Given the description of an element on the screen output the (x, y) to click on. 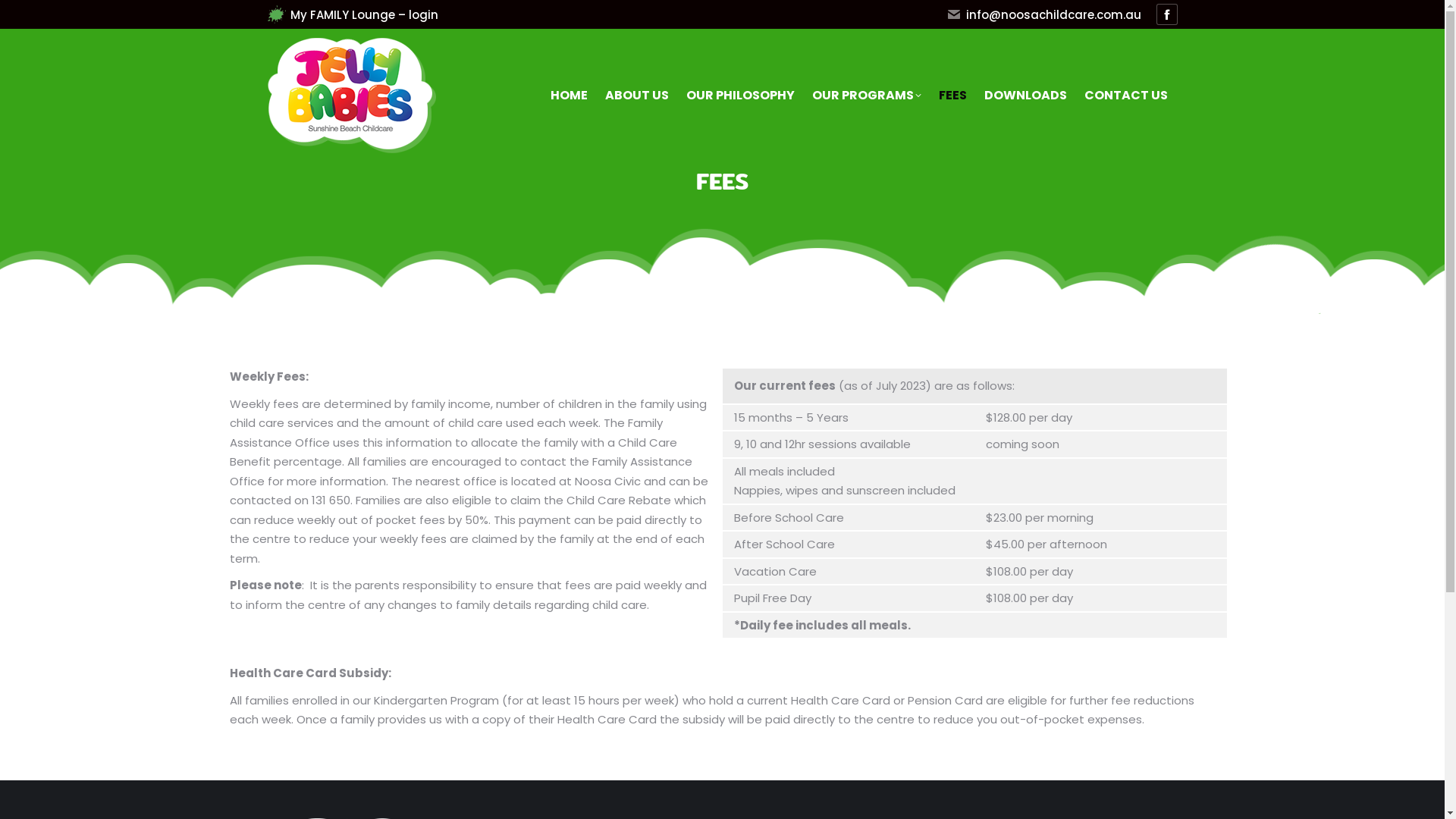
OUR PHILOSOPHY Element type: text (740, 95)
DOWNLOADS Element type: text (1026, 95)
CONTACT US Element type: text (1126, 95)
FEES Element type: text (953, 95)
info@noosachildcare.com.au Element type: text (1043, 13)
Facebook page opens in new window Element type: text (1165, 14)
ABOUT US Element type: text (637, 95)
OUR PROGRAMS Element type: text (866, 95)
HOME Element type: text (570, 95)
